Given the description of an element on the screen output the (x, y) to click on. 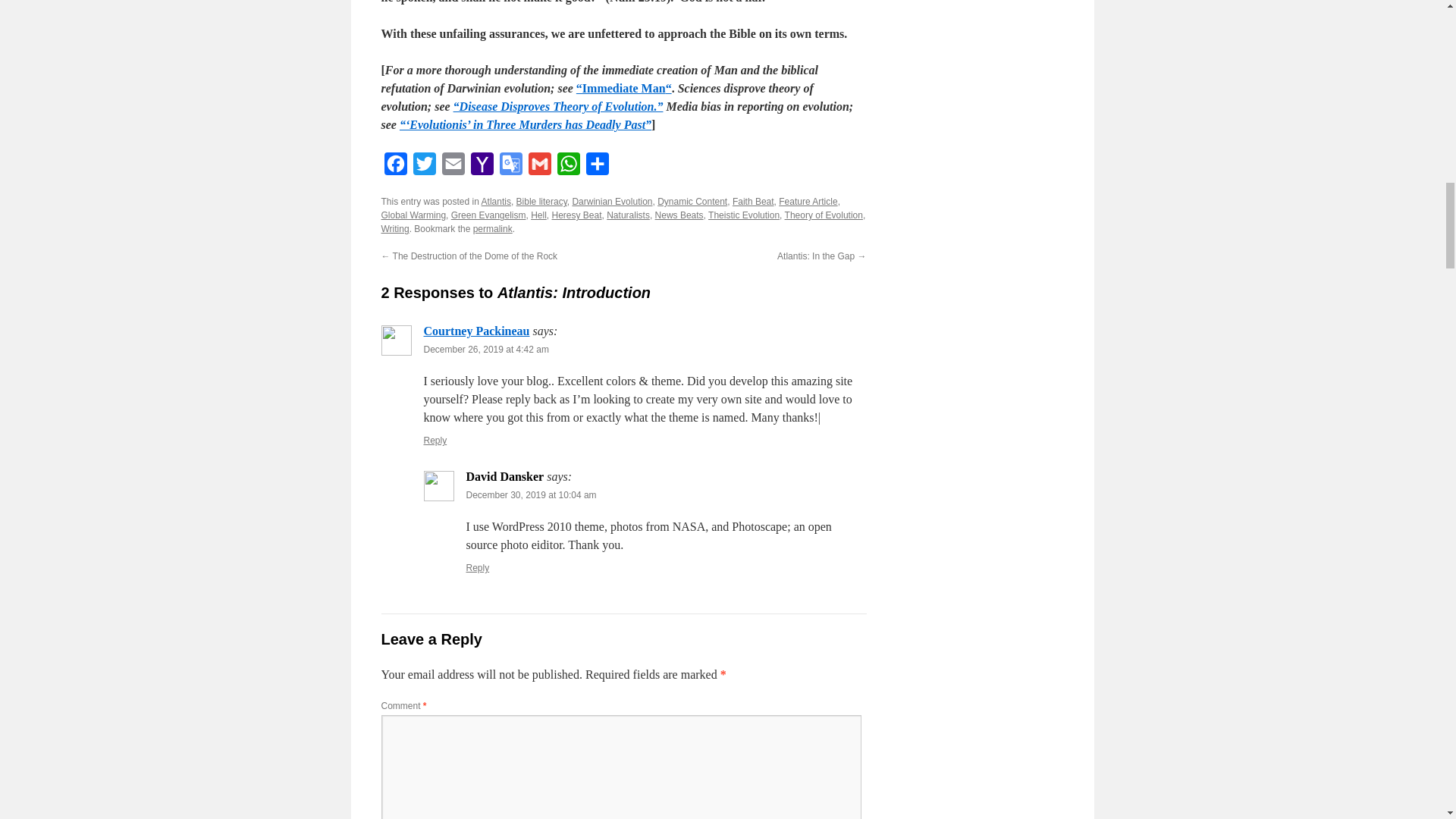
Permalink to Atlantis: Introduction (492, 228)
Facebook (394, 167)
WhatsApp (567, 167)
Email (452, 167)
Twitter (423, 167)
Facebook (394, 167)
WhatsApp (567, 167)
Twitter (423, 167)
Gmail (538, 167)
Google Translate (510, 167)
Yahoo Mail (481, 167)
Yahoo Mail (481, 167)
Gmail (538, 167)
Google Translate (510, 167)
Email (452, 167)
